Given the description of an element on the screen output the (x, y) to click on. 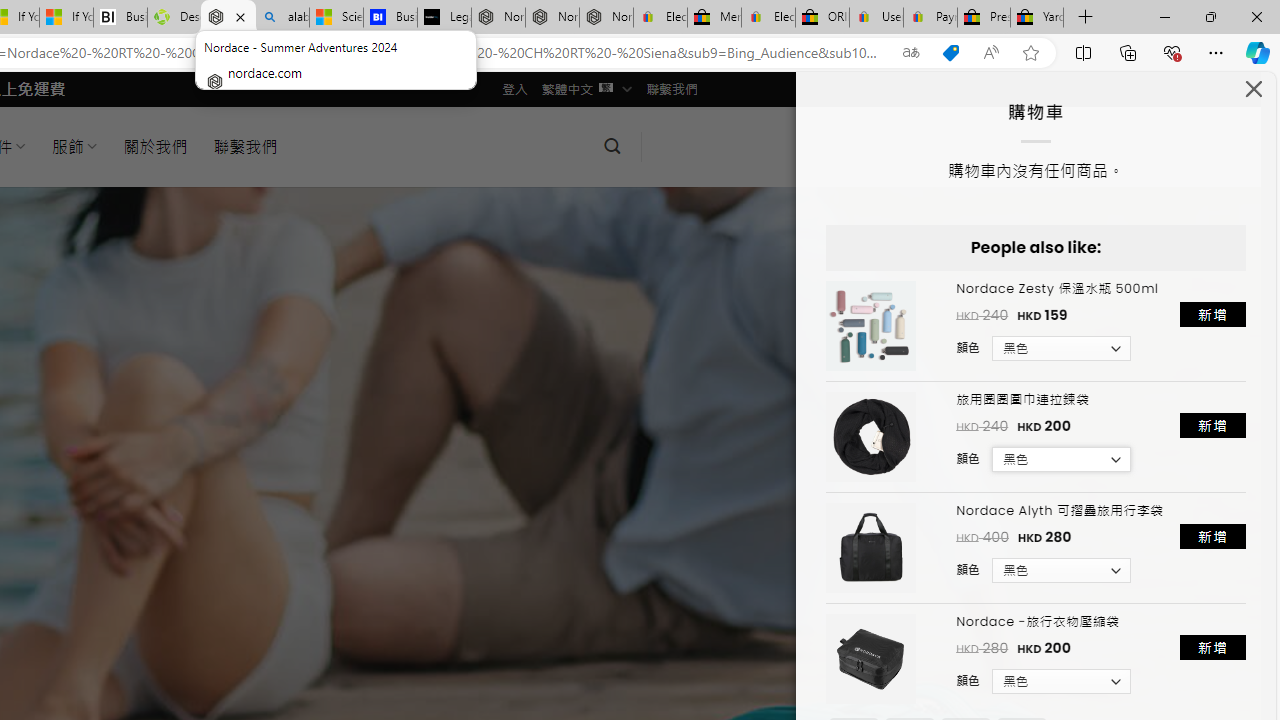
 0  (673, 146)
alabama high school quarterback dies - Search (282, 17)
